Given the description of an element on the screen output the (x, y) to click on. 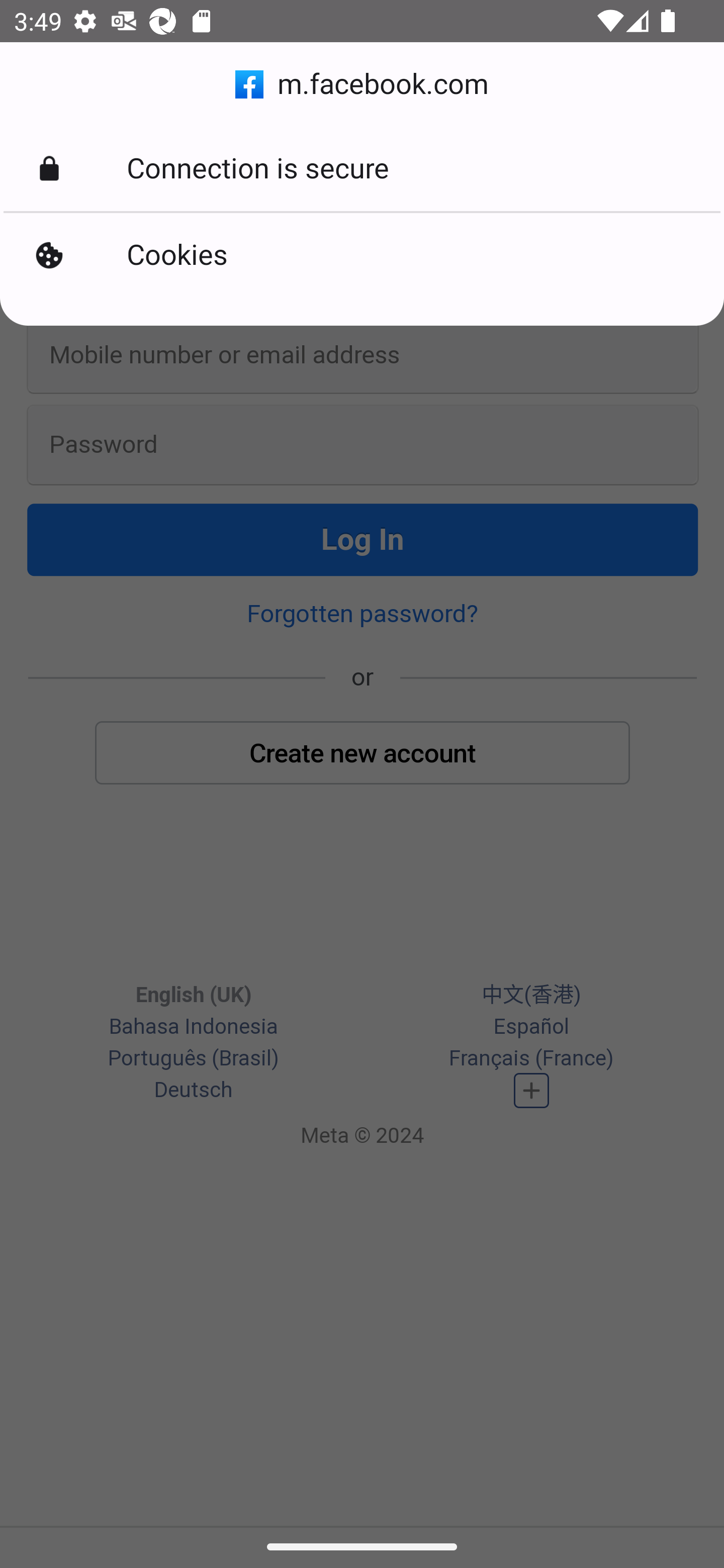
m.facebook.com (362, 84)
Connection is secure (362, 169)
Cookies (362, 255)
